Given the description of an element on the screen output the (x, y) to click on. 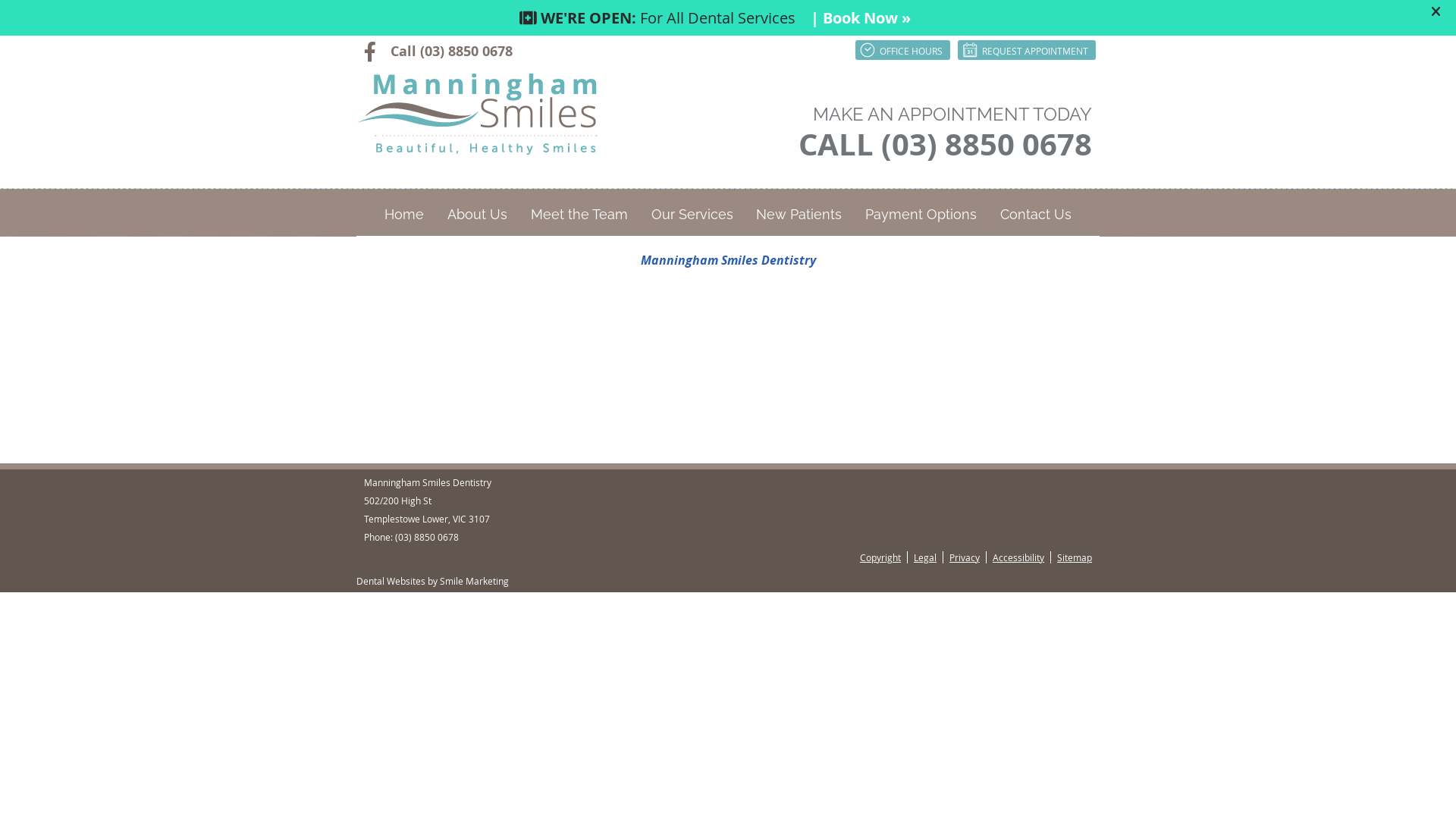
Manningham Smiles Dentistry Element type: text (727, 259)
Our Services Element type: text (692, 214)
REQUEST APPOINTMENT Element type: text (1026, 49)
(03) 8850 0678 Element type: text (466, 50)
Contact Us Element type: text (1035, 214)
Home Element type: text (404, 214)
About Us Element type: text (477, 214)
Copyright Element type: text (880, 557)
Payment Options Element type: text (920, 214)
Sitemap Element type: text (1071, 557)
Facebook Social Button Element type: text (371, 50)
OFFICE HOURS Element type: text (902, 49)
Meet the Team Element type: text (579, 214)
Accessibility Element type: text (1018, 557)
New Patients Element type: text (798, 214)
Legal Element type: text (925, 557)
Privacy Element type: text (964, 557)
Manningham Smiles Dentistry Element type: text (476, 150)
(03) 8850 0678 Element type: text (426, 536)
